Given the description of an element on the screen output the (x, y) to click on. 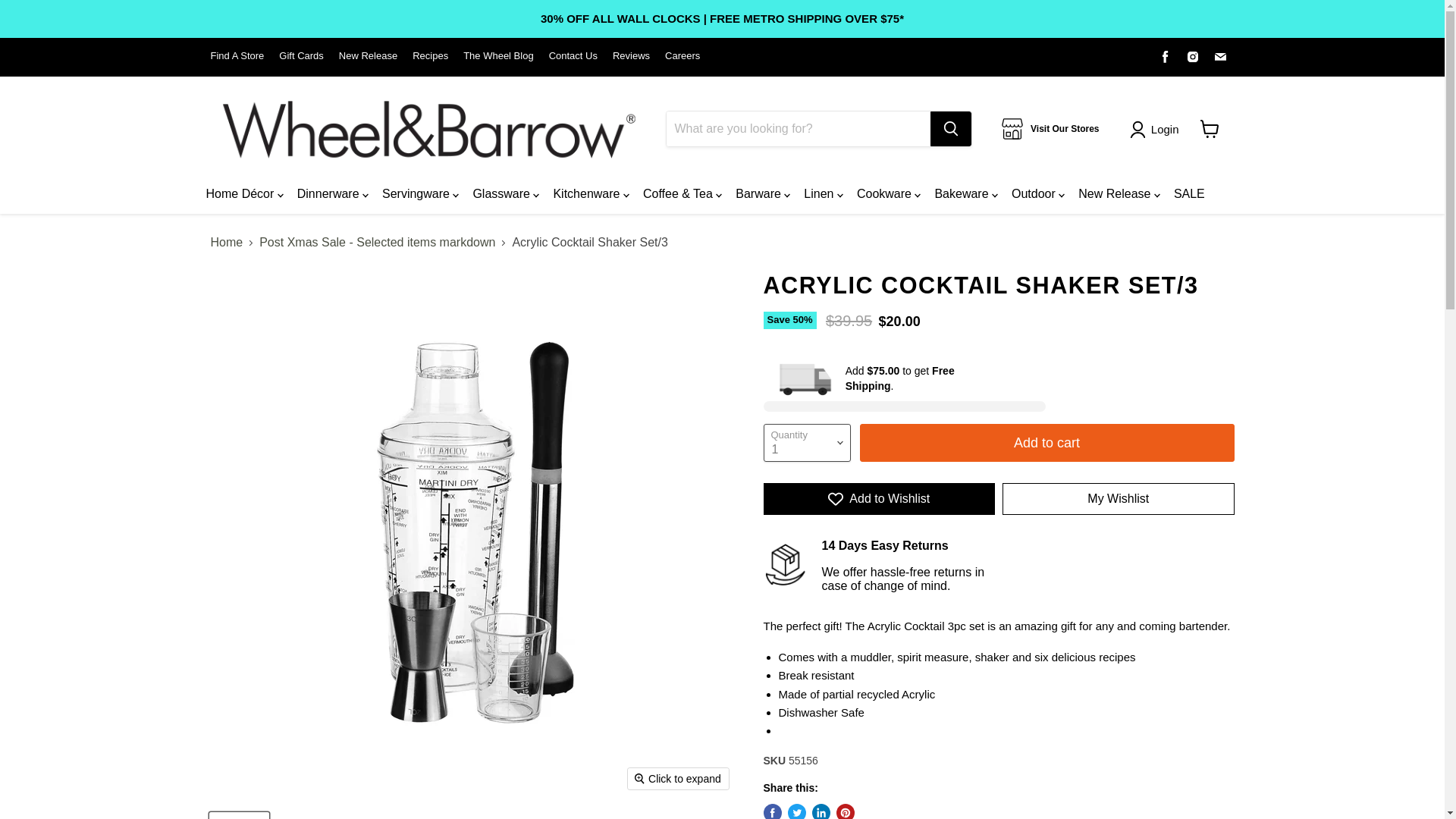
Email (1219, 55)
Find us on Email (1219, 55)
Gift Cards (301, 56)
Facebook (1165, 55)
Reviews (630, 56)
Recipes (430, 56)
Find us on Facebook (1165, 55)
Login (1164, 128)
New Release (368, 56)
Find us on Instagram (1193, 55)
Visit Our Stores (1050, 128)
Careers (682, 56)
Contact Us (572, 56)
The Wheel Blog (498, 56)
Instagram (1193, 55)
